Given the description of an element on the screen output the (x, y) to click on. 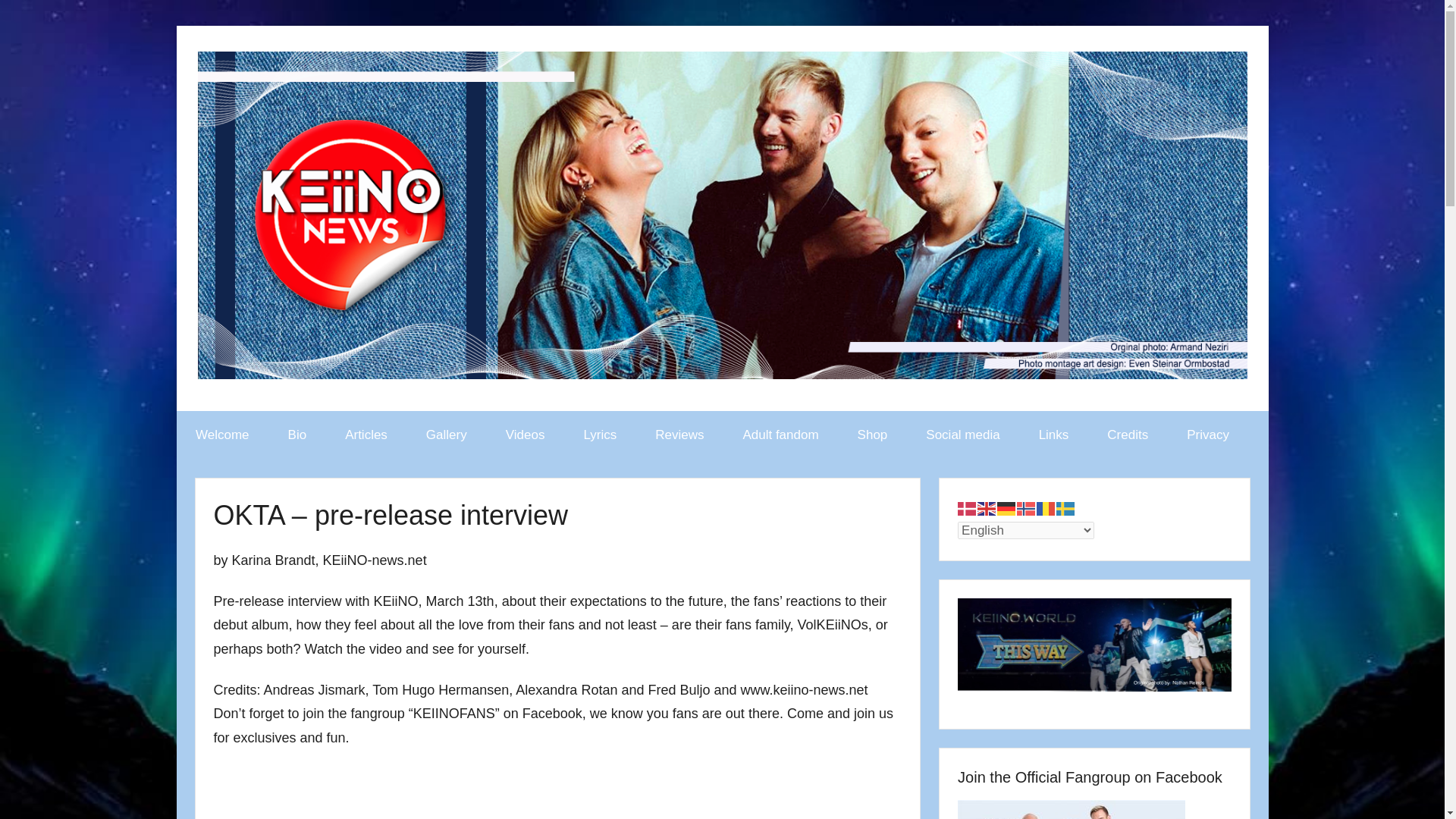
Norwegian (1026, 507)
Romanian (1046, 507)
Swedish (1066, 507)
Bio (296, 435)
Lyrics (600, 435)
Privacy (1208, 435)
Videos (525, 435)
Social media (963, 435)
Gallery (446, 435)
Shop (872, 435)
Links (1053, 435)
German (1006, 507)
Credits (1127, 435)
Danish (967, 507)
